Given the description of an element on the screen output the (x, y) to click on. 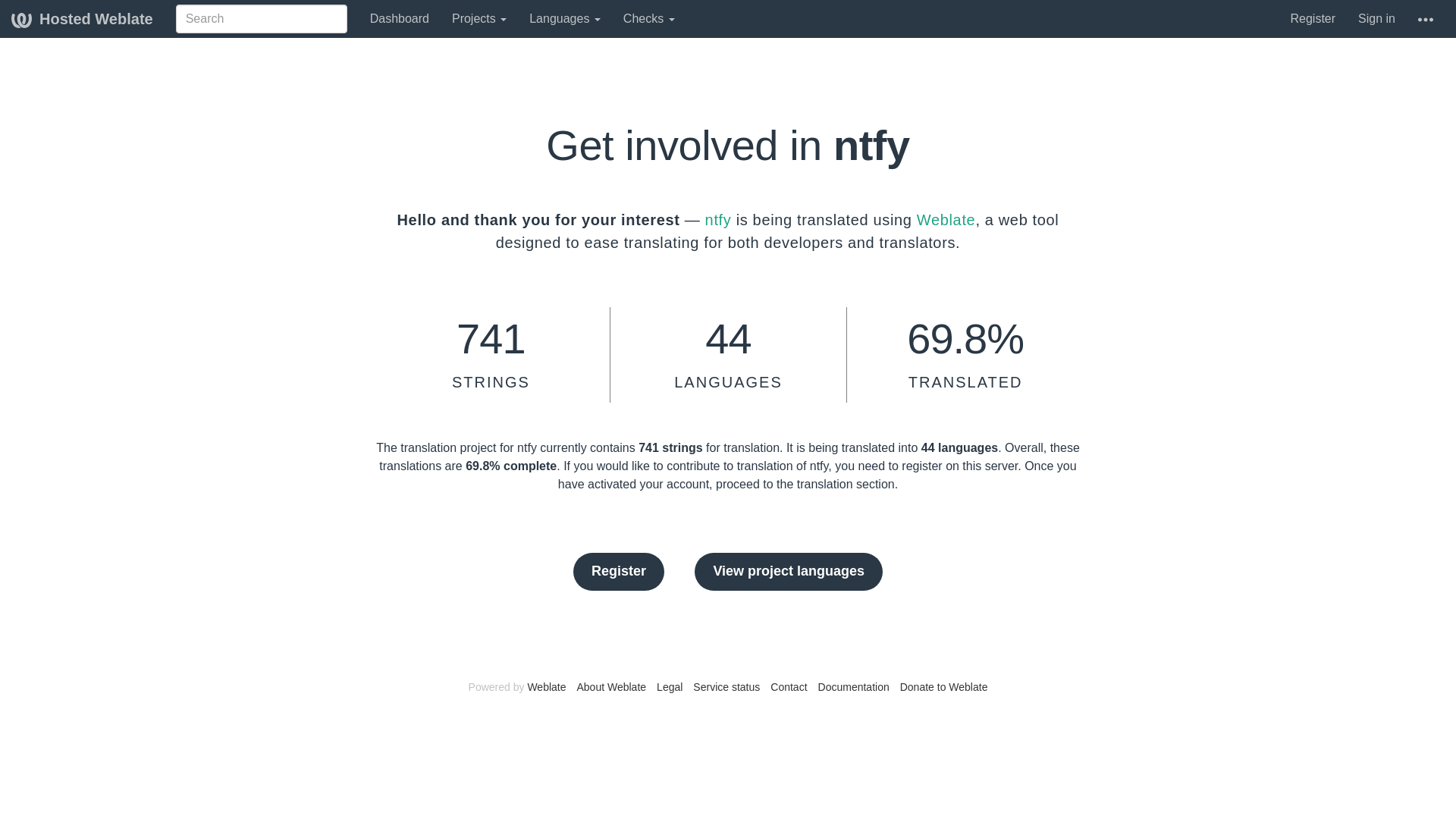
Hosted Weblate (82, 18)
Help (1425, 18)
Register (1312, 18)
Contact (788, 686)
Sign in (1376, 18)
About Weblate (611, 686)
ntfy (718, 219)
Documentation (853, 686)
Donate to Weblate (943, 686)
Weblate (546, 686)
Service status (726, 686)
Register (618, 571)
View project languages (788, 571)
Legal (669, 686)
Projects (479, 18)
